Given the description of an element on the screen output the (x, y) to click on. 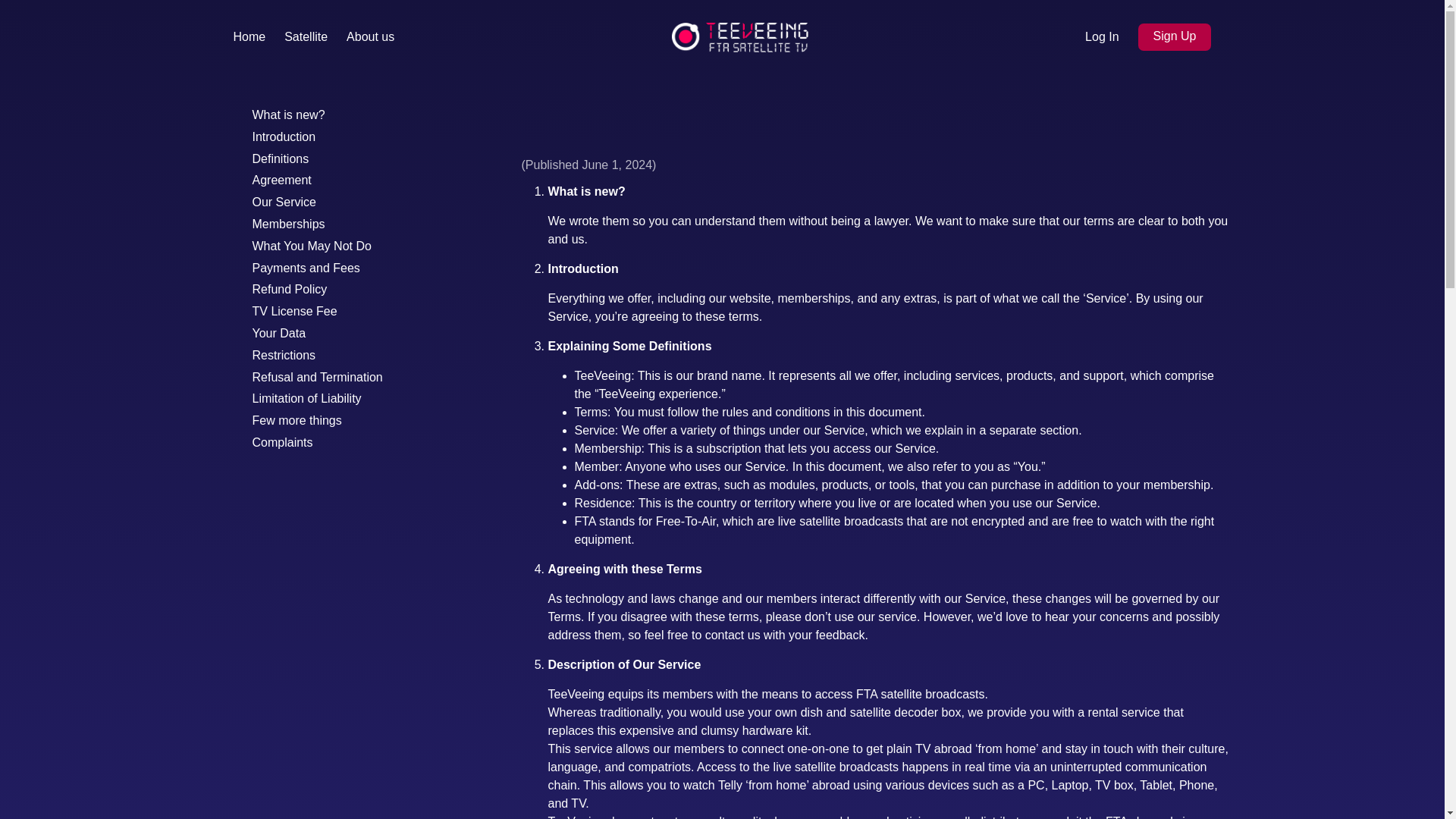
Refusal and Termination (316, 377)
Refund Policy (288, 288)
Few more things (295, 420)
Agreement (281, 179)
Home (249, 37)
Complaints (282, 441)
Log In (1101, 37)
Satellite (305, 37)
Memberships (287, 223)
Definitions (279, 158)
What You May Not Do (311, 245)
TV License Fee (293, 310)
Our Service (283, 201)
Introduction (283, 136)
Sign Up (1174, 36)
